Given the description of an element on the screen output the (x, y) to click on. 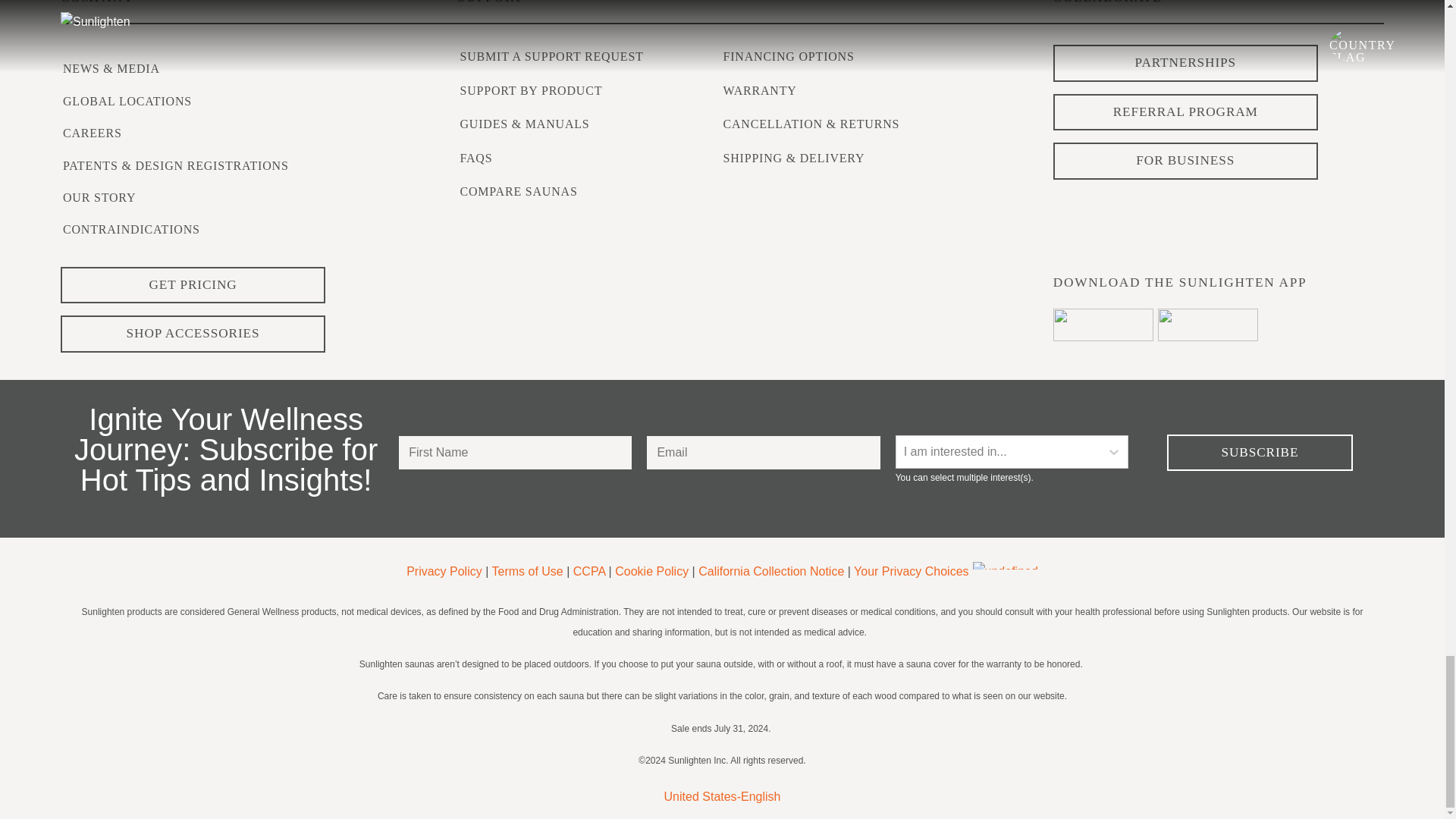
Instagram (1141, 204)
FAQS (476, 157)
GET PRICING (192, 284)
CAREERS (92, 132)
FOR BUSINESS (1184, 160)
SHOP ACCESSORIES (192, 333)
WARRANTY (759, 90)
YouTube (1294, 204)
REFERRAL PROGRAM (1184, 112)
SUPPORT BY PRODUCT (531, 90)
FINANCING OPTIONS (788, 56)
PARTNERSHIPS (1184, 63)
OUR STORY (98, 196)
COMPARE SAUNAS (518, 191)
SUBMIT A SUPPORT REQUEST (551, 56)
